Given the description of an element on the screen output the (x, y) to click on. 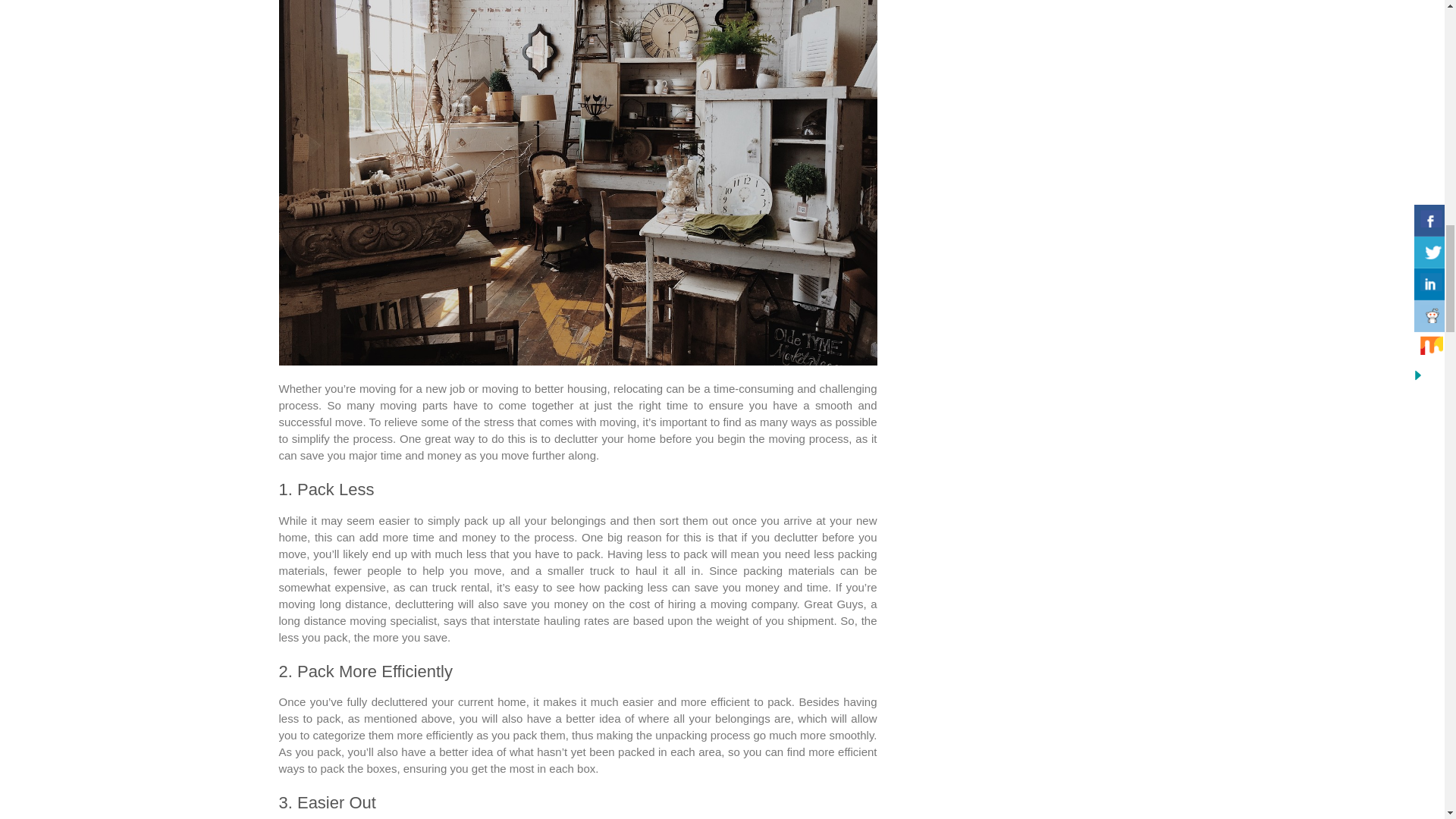
expensive (359, 586)
moving for a new job (411, 388)
Great Guys (833, 603)
declutter your home (605, 438)
efficient (857, 751)
